Given the description of an element on the screen output the (x, y) to click on. 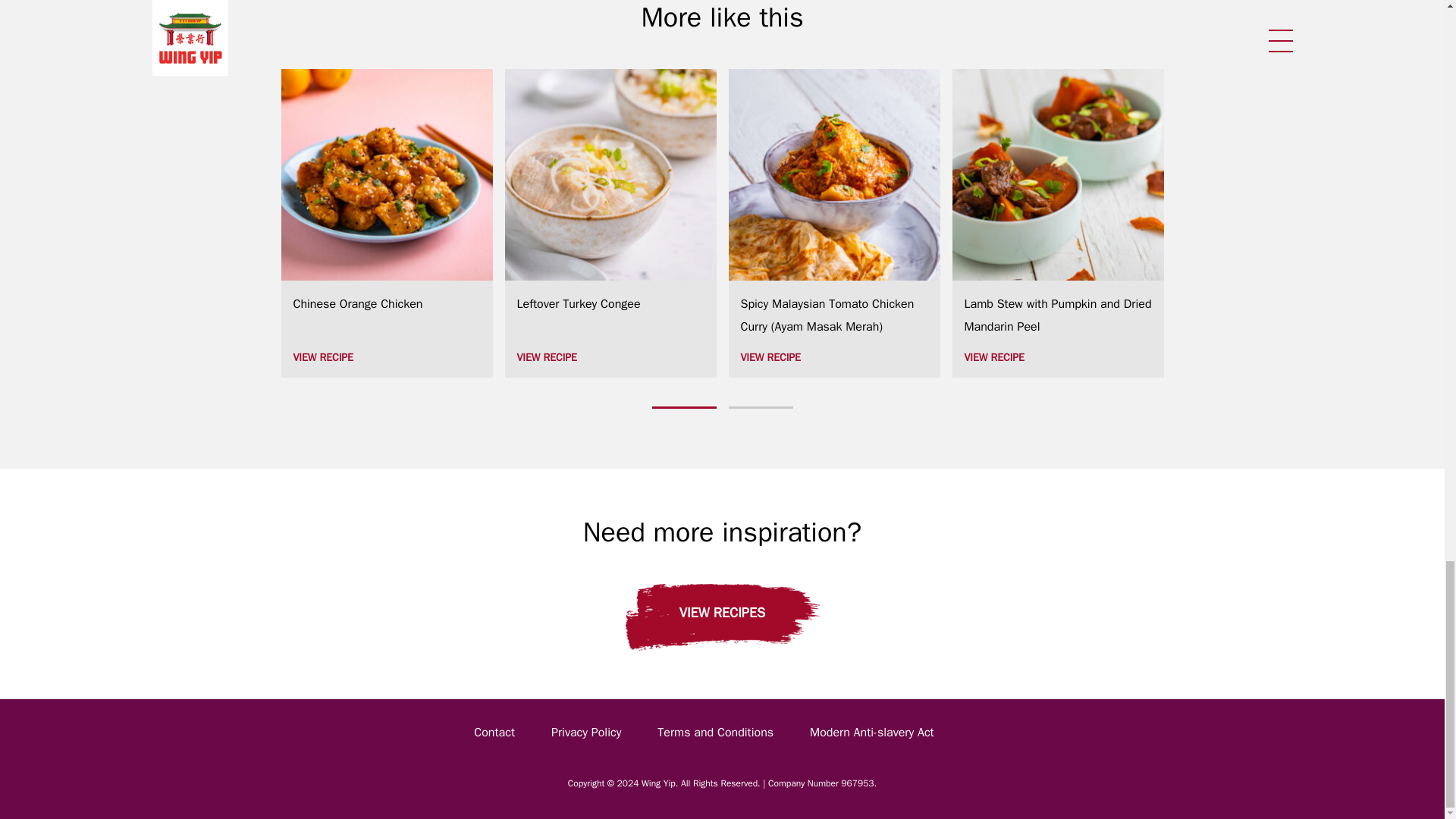
VIEW RECIPES (721, 616)
VIEW RECIPE (610, 357)
VIEW RECIPE (386, 357)
Contact (494, 732)
VIEW RECIPE (1057, 357)
VIEW RECIPE (833, 357)
